Given the description of an element on the screen output the (x, y) to click on. 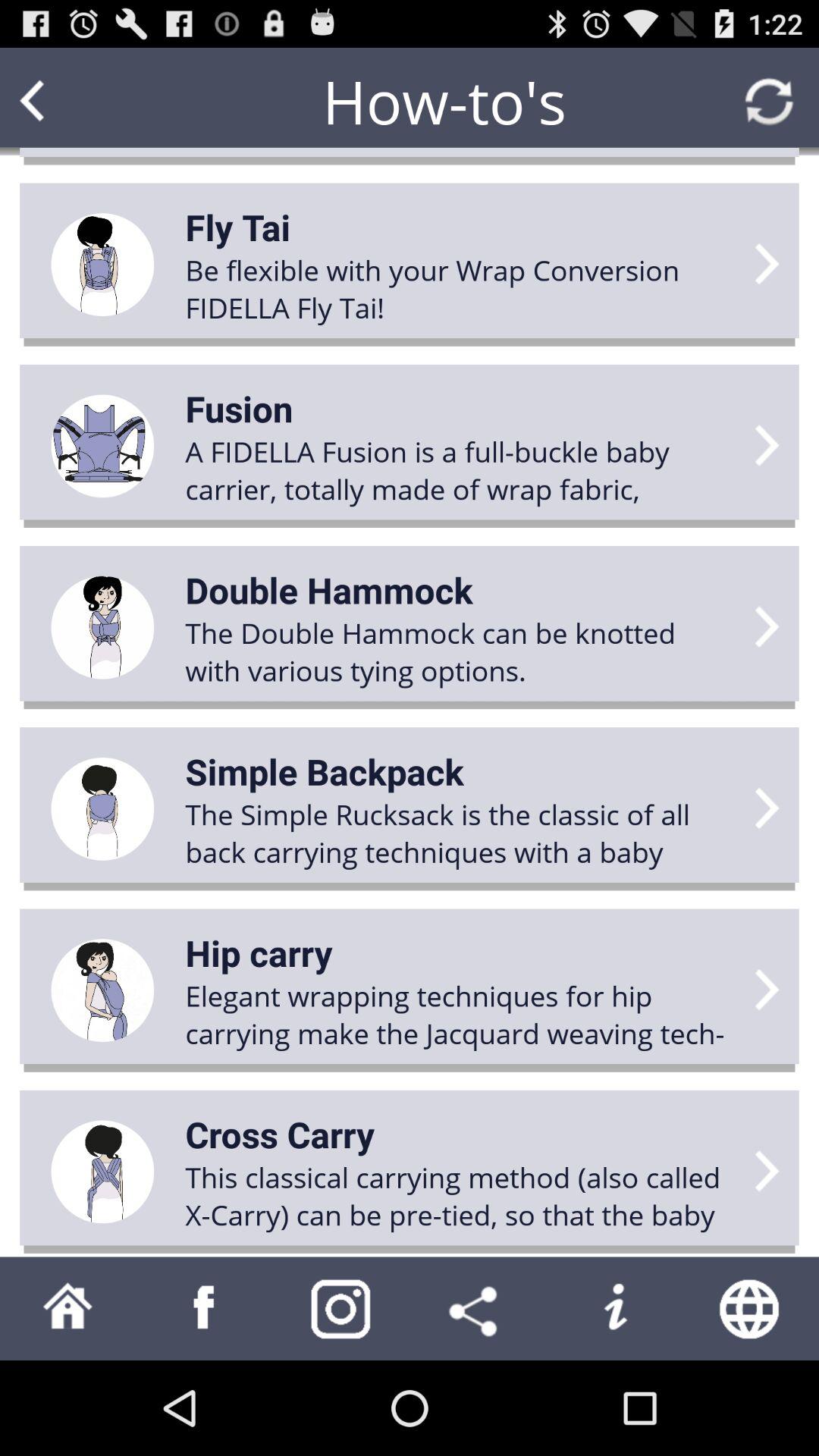
select icon below this classical carrying icon (477, 1308)
